Given the description of an element on the screen output the (x, y) to click on. 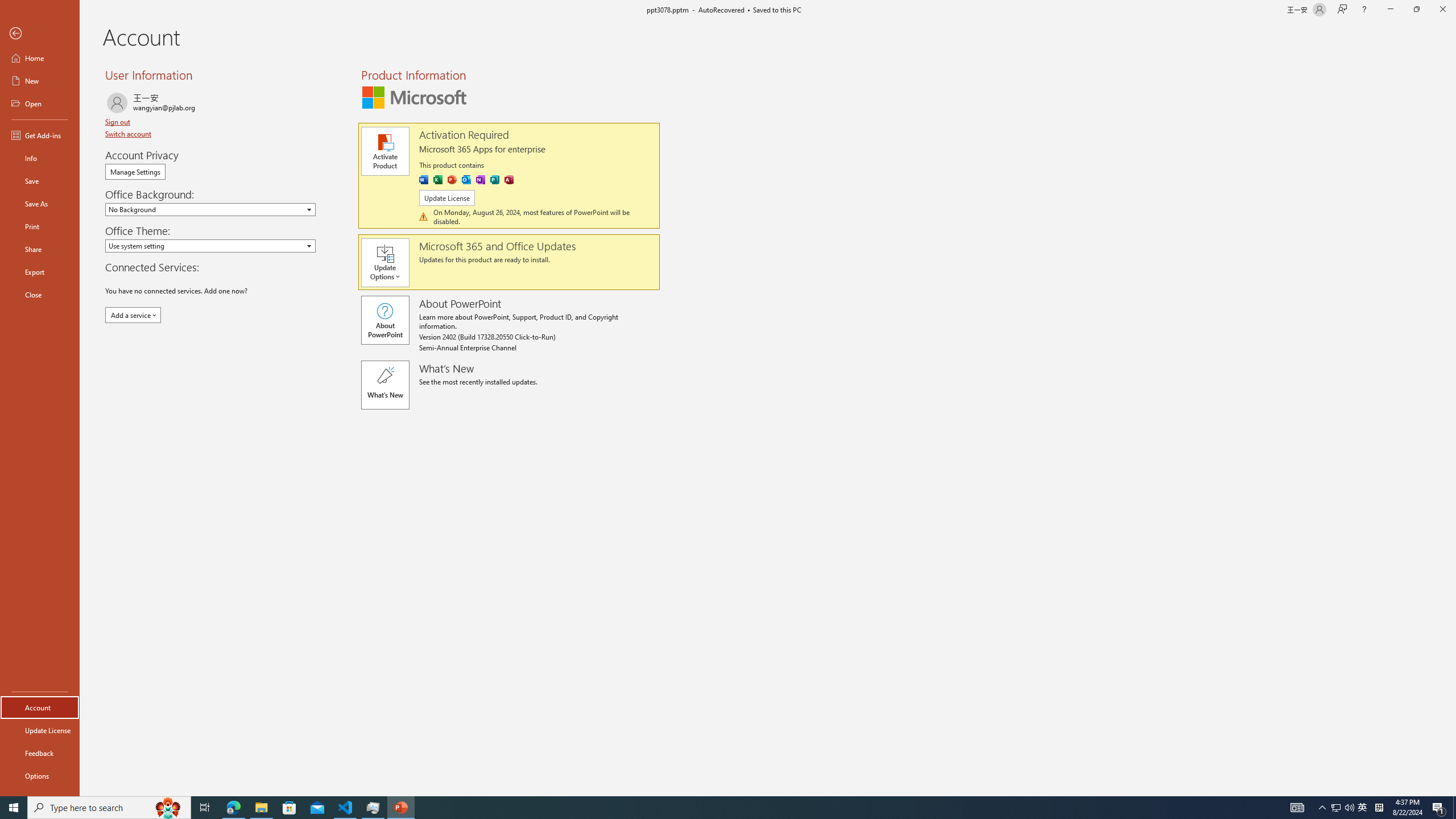
Manage Settings (134, 171)
Info (40, 157)
Print (40, 225)
Feedback (40, 753)
Update License (40, 730)
Add a service (132, 314)
Export (40, 271)
